Given the description of an element on the screen output the (x, y) to click on. 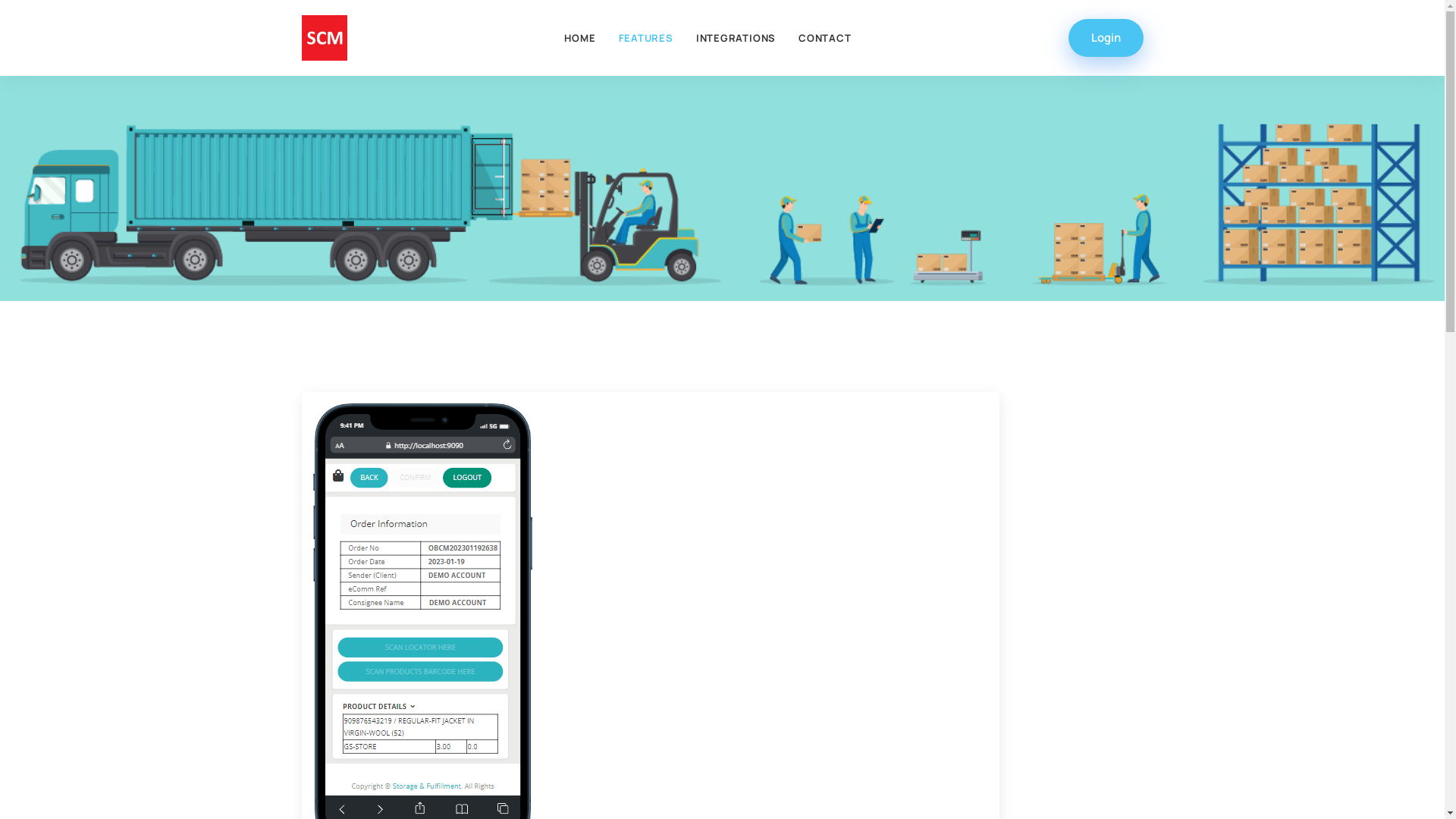
CONTACT Element type: text (824, 37)
FEATURES Element type: text (645, 37)
HOME Element type: text (579, 37)
INTEGRATIONS Element type: text (735, 37)
Login Element type: text (1104, 37)
